Given the description of an element on the screen output the (x, y) to click on. 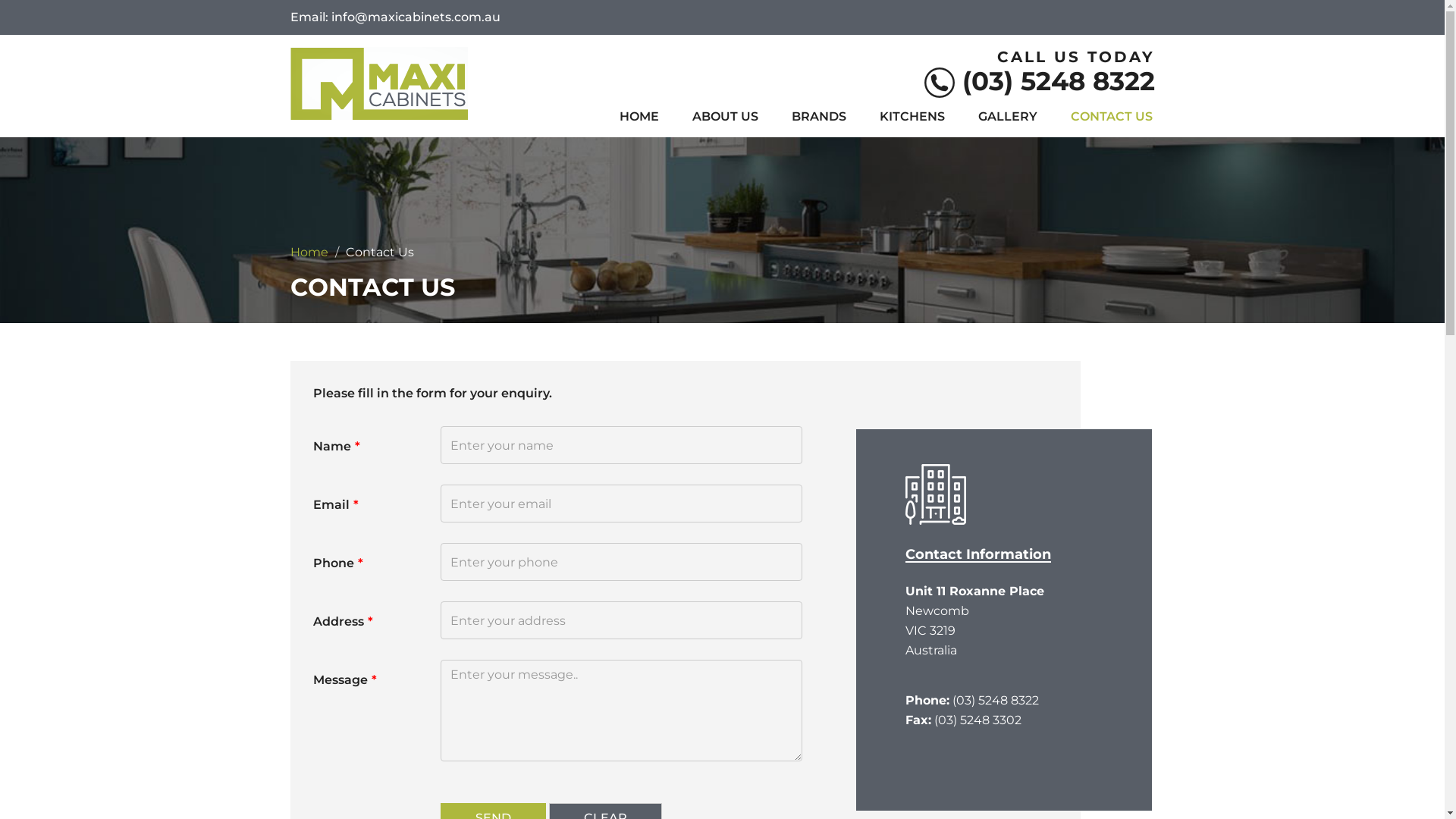
CONTACT US Element type: text (1110, 116)
KITCHENS Element type: text (911, 116)
(03) 5248 8322 Element type: text (995, 700)
Home Element type: text (308, 251)
ABOUT US Element type: text (725, 116)
(03) 5248 8322 Element type: text (1038, 84)
GALLERY Element type: text (1006, 116)
info@maxicabinets.com.au Element type: text (414, 16)
BRANDS Element type: text (817, 116)
HOME Element type: text (639, 116)
